Given the description of an element on the screen output the (x, y) to click on. 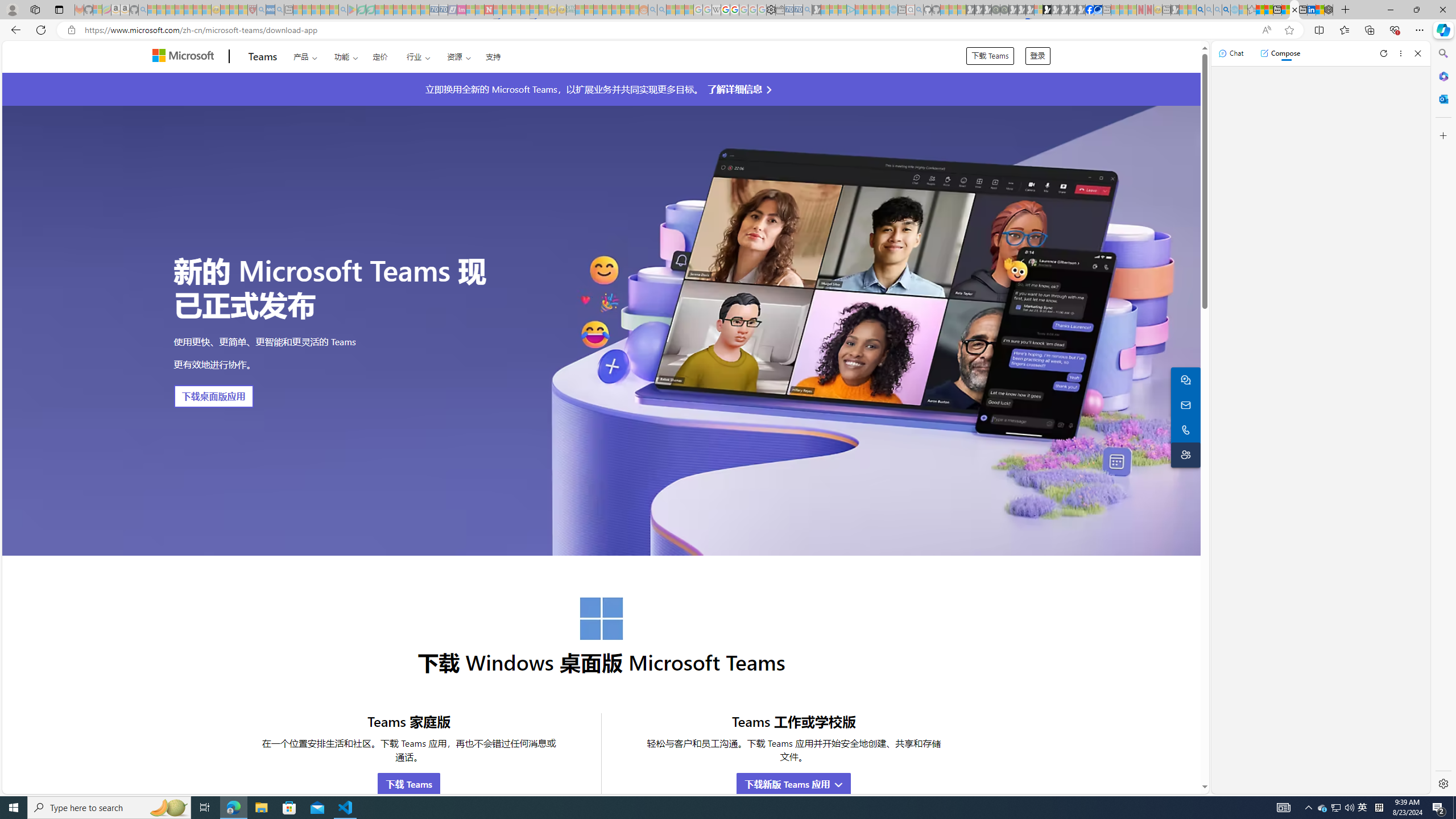
Microsoft (184, 56)
Jobs - lastminute.com Investor Portal - Sleeping (461, 9)
Cheap Car Rentals - Save70.com - Sleeping (798, 9)
